Given the description of an element on the screen output the (x, y) to click on. 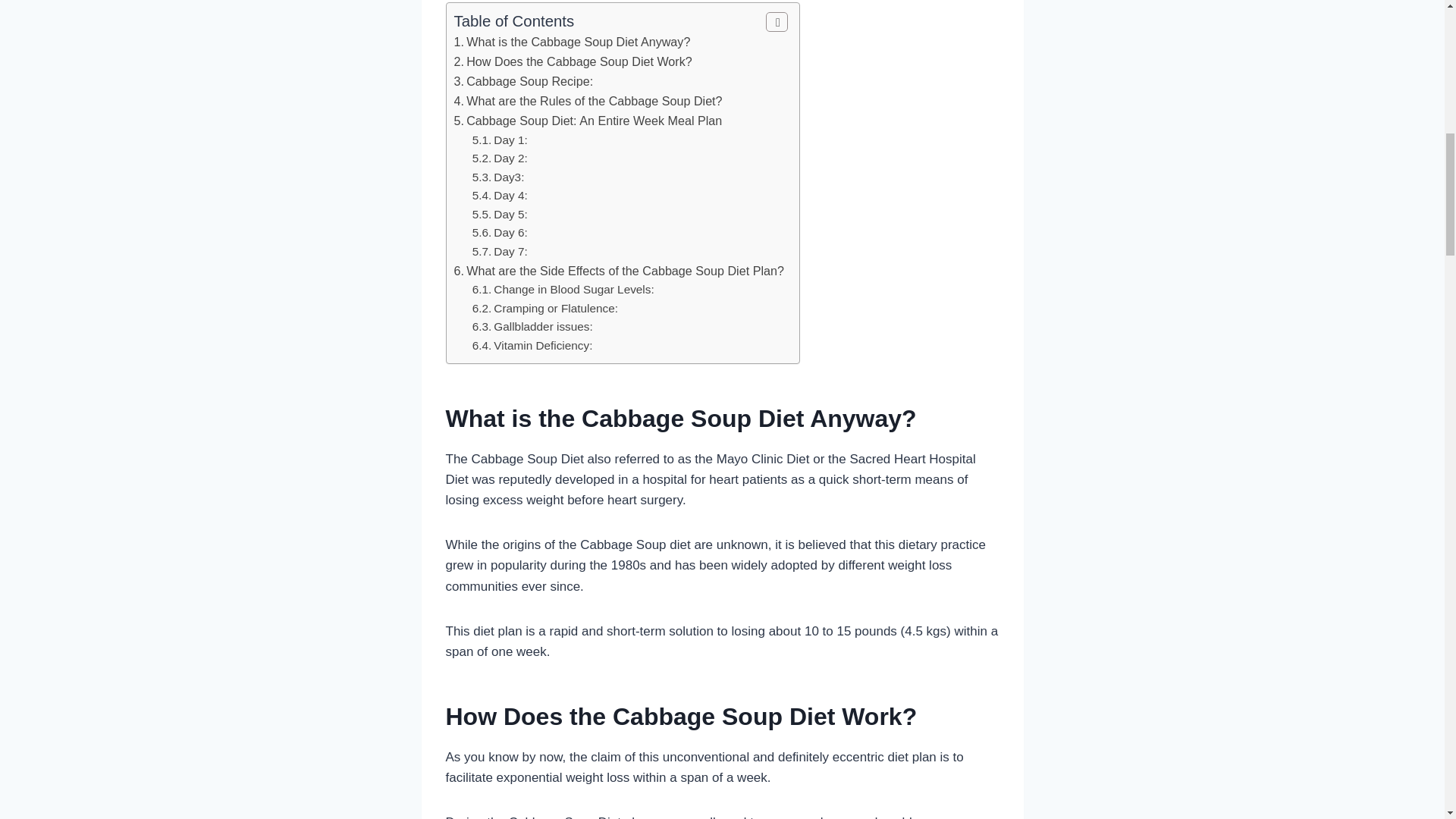
Cabbage Soup Recipe: (522, 80)
How Does the Cabbage Soup Diet Work? (571, 60)
Day 4: (499, 195)
Day 6: (499, 232)
Day3: (497, 176)
What is the Cabbage Soup Diet Anyway? (571, 41)
What is the Cabbage Soup Diet Anyway? (571, 41)
Change in Blood Sugar Levels: (562, 288)
Day 1: (499, 139)
What are the Side Effects of the Cabbage Soup Diet Plan? (617, 270)
Gallbladder issues: (531, 326)
What are the Rules of the Cabbage Soup Diet? (587, 100)
Cramping or Flatulence: (544, 308)
Day 4: (499, 195)
Cabbage Soup Diet: An Entire Week Meal Plan (587, 120)
